Given the description of an element on the screen output the (x, y) to click on. 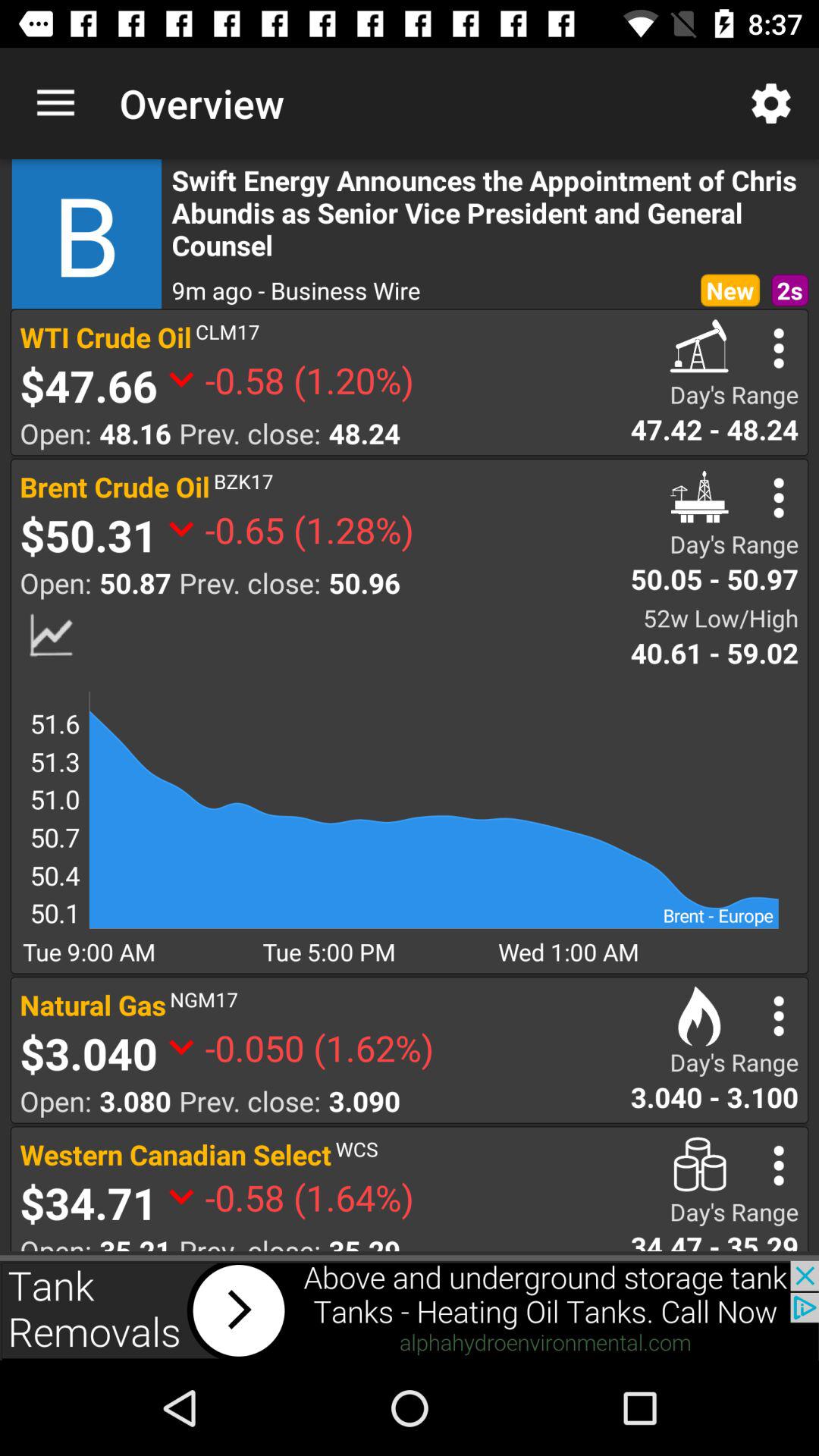
advertisement banner (409, 1310)
